Given the description of an element on the screen output the (x, y) to click on. 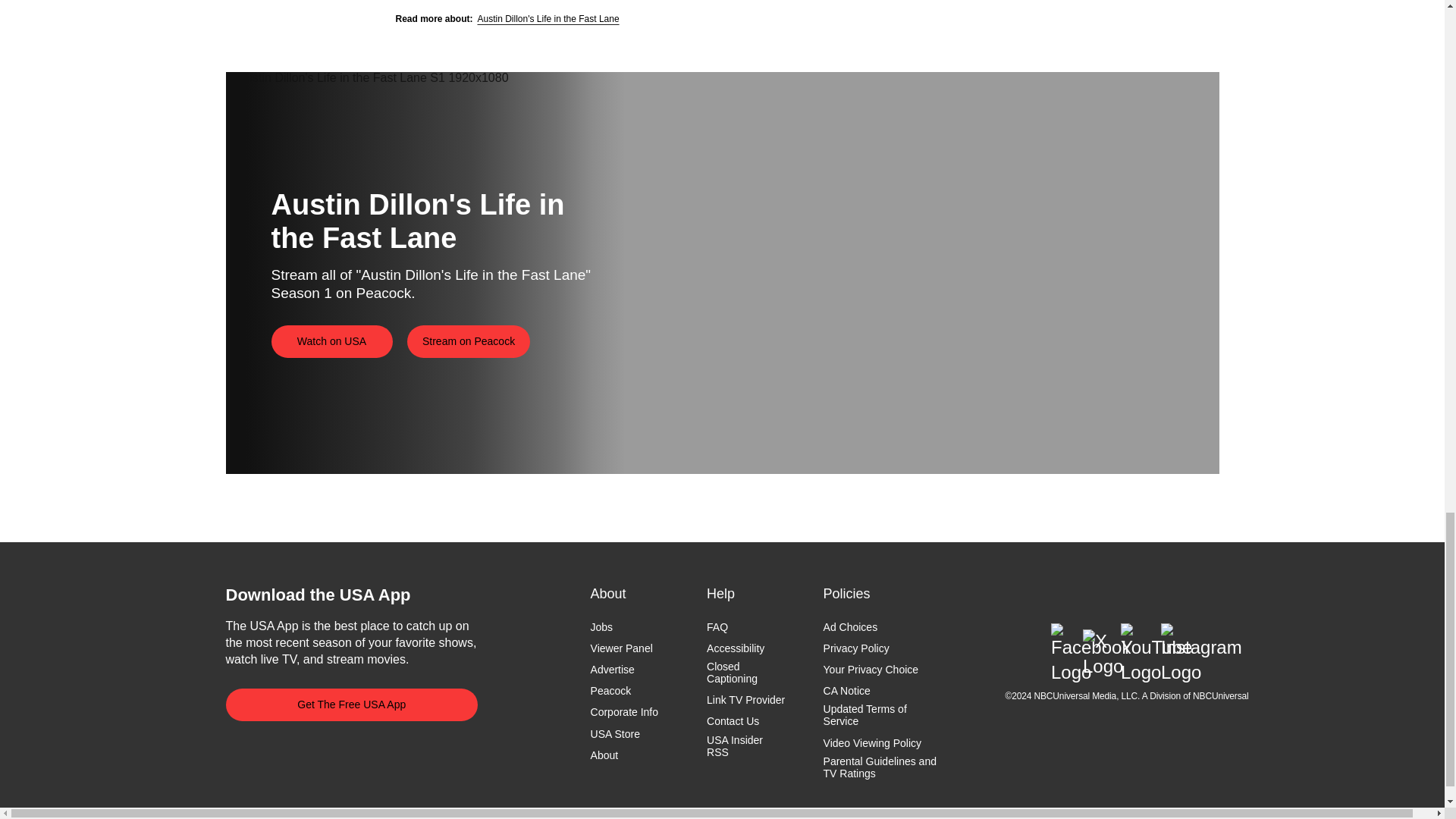
Advertise (612, 669)
Jobs (601, 626)
Stream on Peacock (468, 341)
Viewer Panel (621, 648)
Get The Free USA App (352, 704)
Watch on USA (331, 341)
Austin Dillon's Life in the Fast Lane (548, 18)
